Given the description of an element on the screen output the (x, y) to click on. 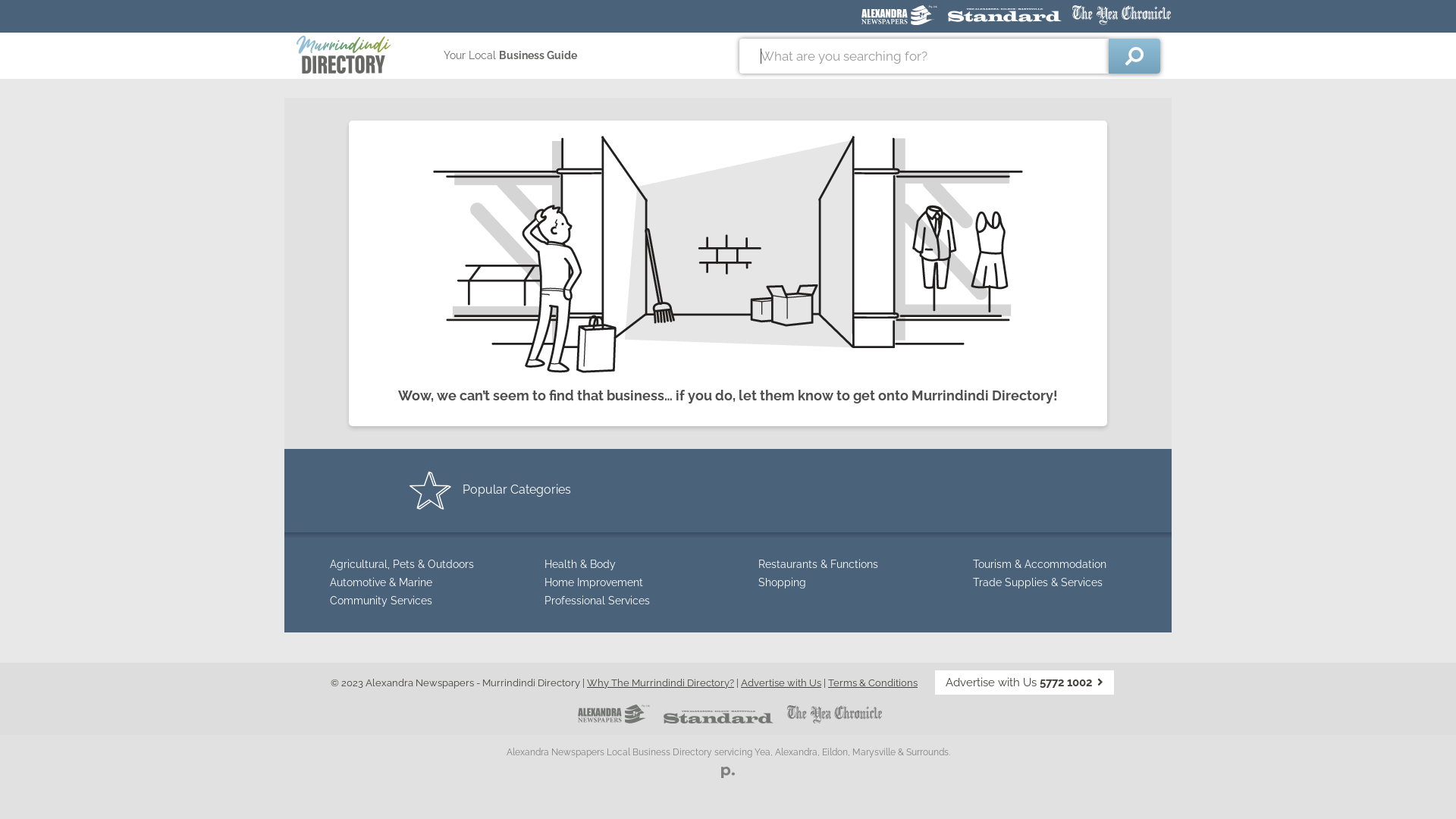
Tourism & Accommodation Element type: text (1038, 564)
Restaurants & Functions Element type: text (818, 564)
Health & Body Element type: text (579, 564)
Why The Murrindindi Directory? Element type: text (660, 682)
Terms & Conditions Element type: text (872, 682)
Agricultural, Pets & Outdoors Element type: text (401, 564)
Shopping Element type: text (782, 582)
Community Services Element type: text (380, 600)
Advertise with Us Element type: text (780, 682)
Home Improvement Element type: text (593, 582)
Trade Supplies & Services Element type: text (1036, 582)
Advertise with Us 5772 1002 Element type: text (1024, 682)
Automotive & Marine Element type: text (380, 582)
Professional Services Element type: text (596, 600)
